Given the description of an element on the screen output the (x, y) to click on. 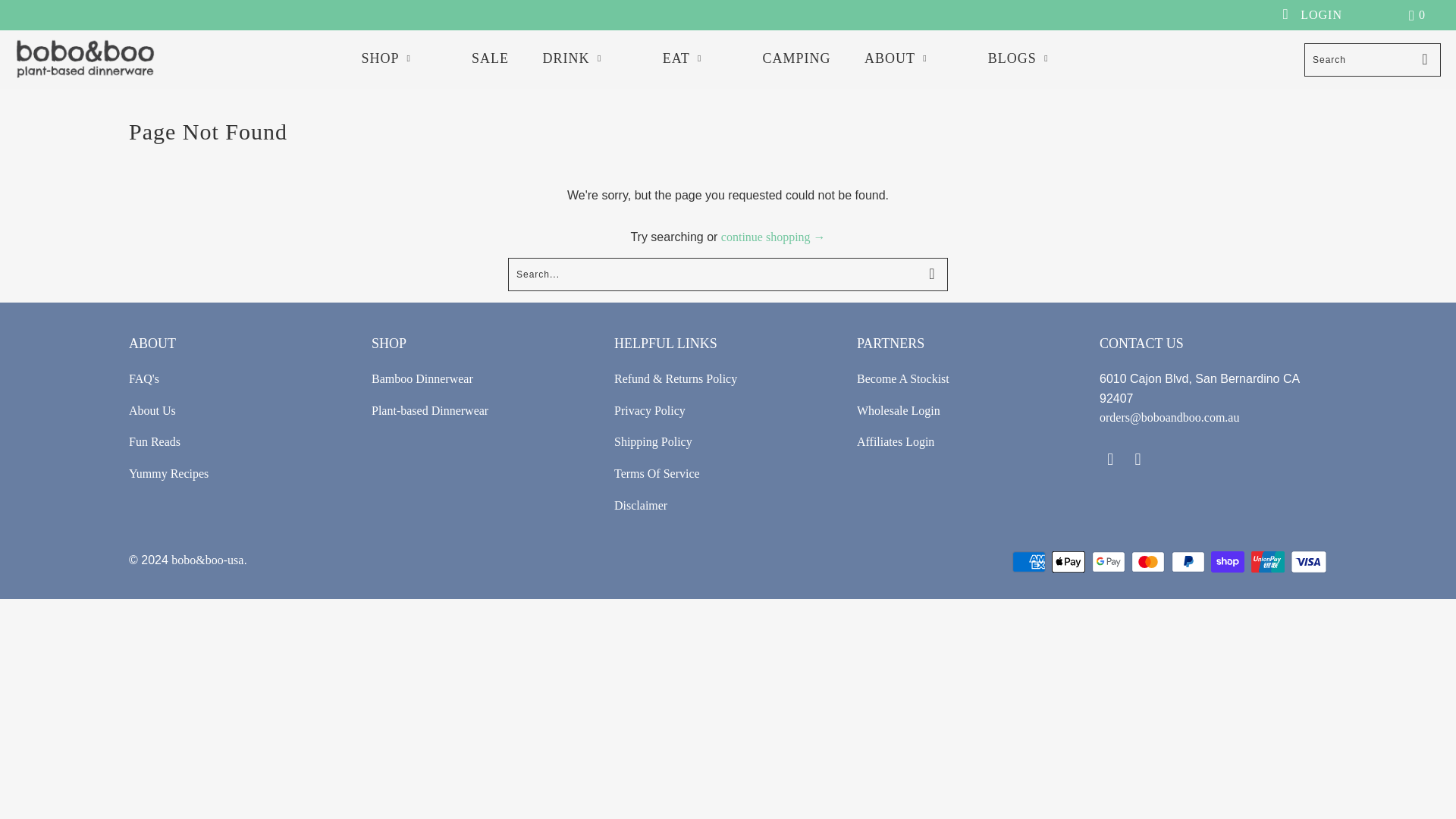
Mastercard (1149, 561)
Google Pay (1110, 561)
SHOP (399, 58)
American Express (1029, 561)
Union Pay (1268, 561)
Apple Pay (1069, 561)
Visa (1308, 561)
LOGIN (1322, 15)
Shop Pay (1229, 561)
My Account  (1322, 15)
